Given the description of an element on the screen output the (x, y) to click on. 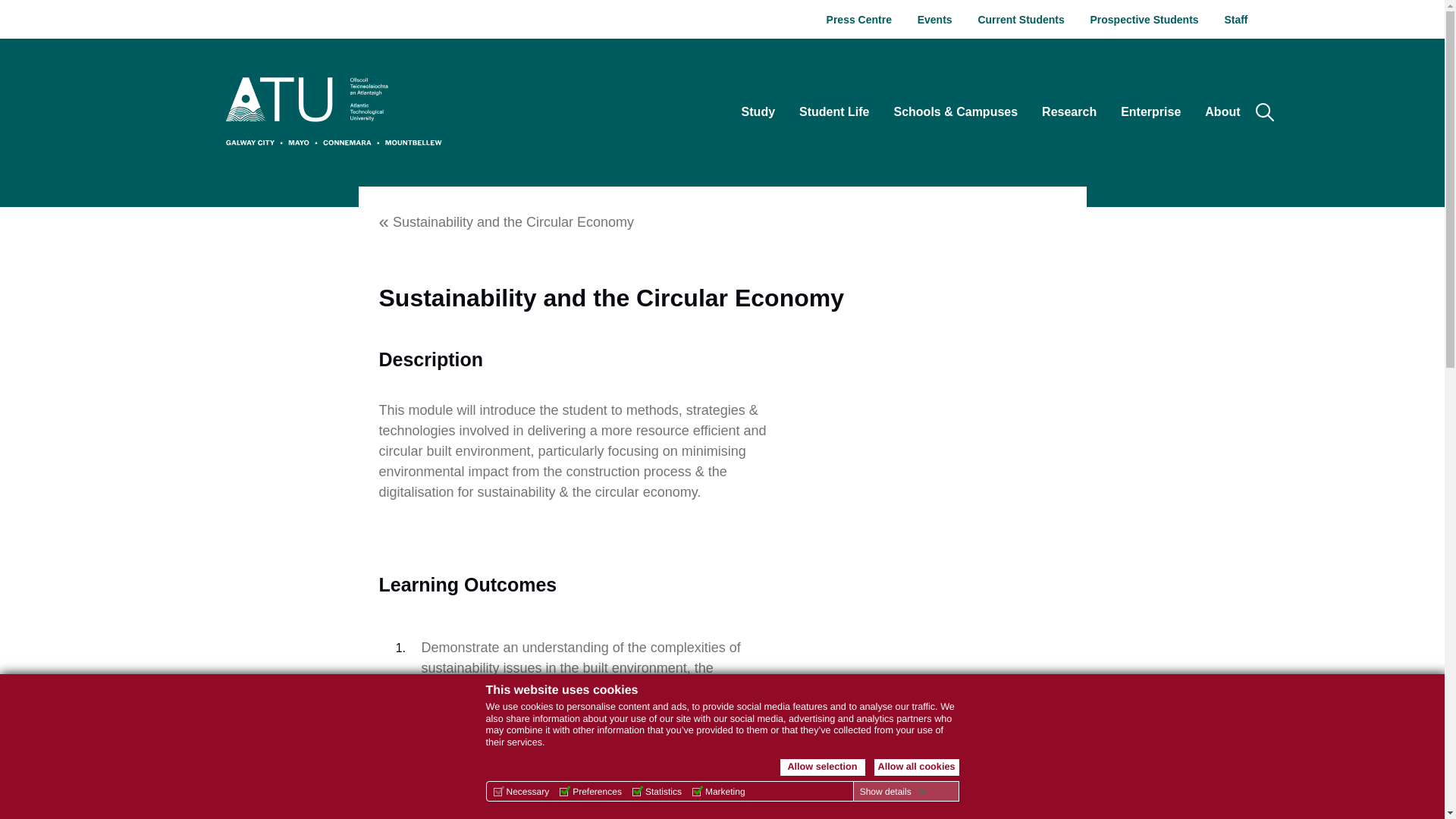
Allow all cookies (915, 767)
Allow selection (821, 767)
Show details (893, 791)
